Given the description of an element on the screen output the (x, y) to click on. 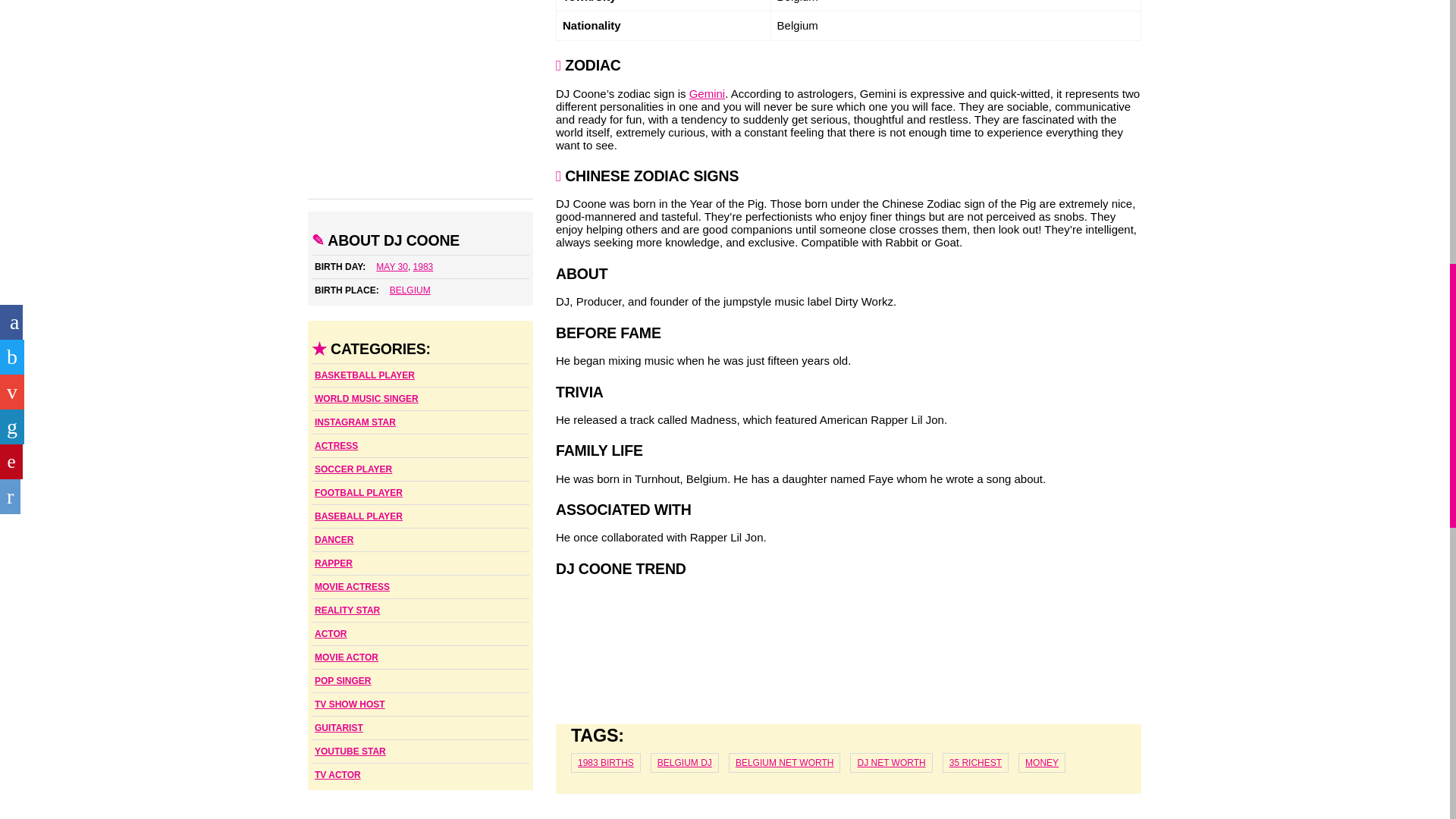
Advertisement (419, 99)
trends-widget-1 (848, 646)
